Given the description of an element on the screen output the (x, y) to click on. 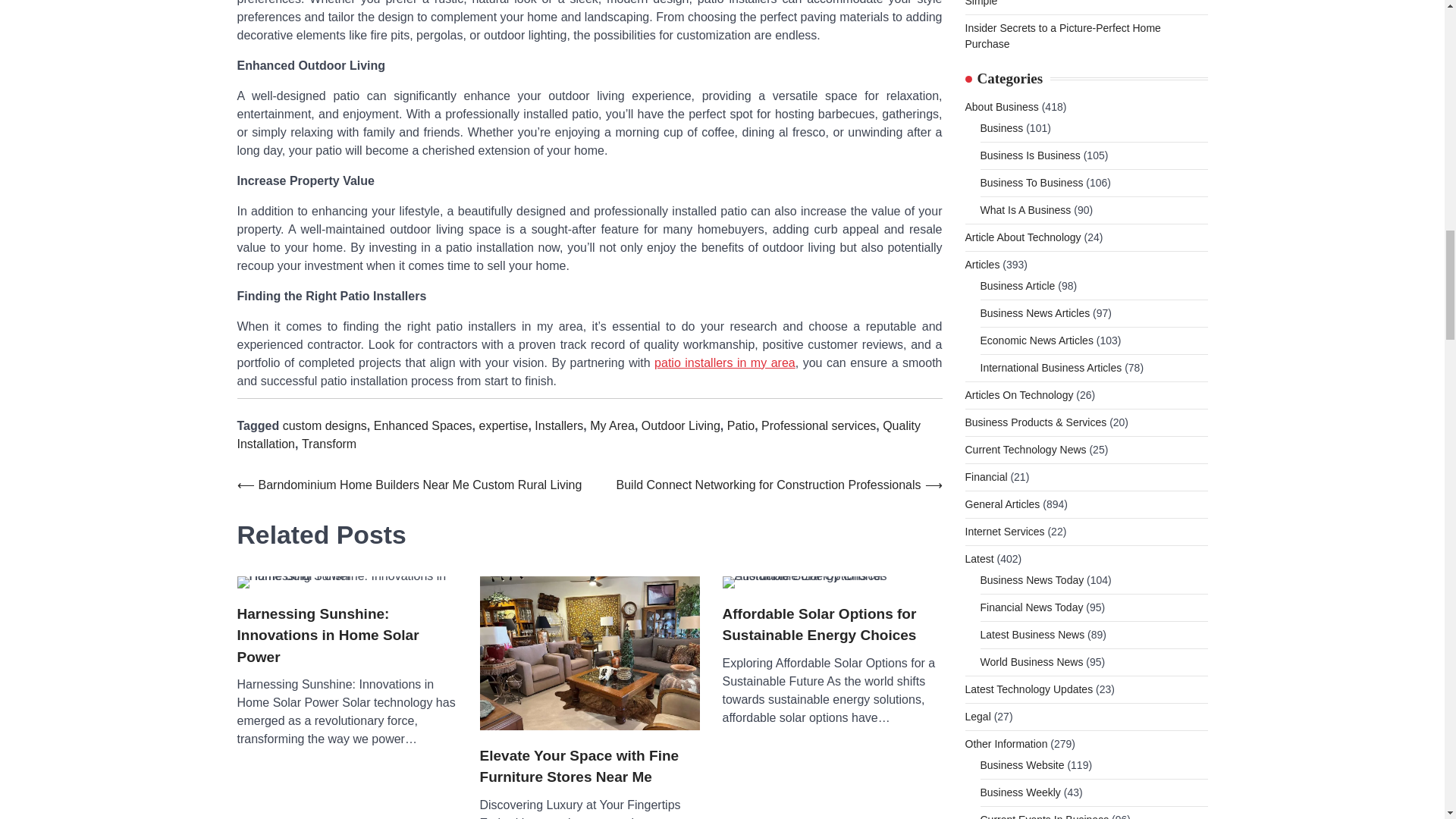
custom designs (324, 425)
Affordable Solar Options for Sustainable Energy Choices (832, 582)
Elevate Your Space with Fine Furniture Stores Near Me (588, 653)
Transform (328, 443)
expertise (503, 425)
patio installers in my area (723, 362)
Enhanced Spaces (422, 425)
My Area (611, 425)
Professional services (818, 425)
Patio (740, 425)
